Given the description of an element on the screen output the (x, y) to click on. 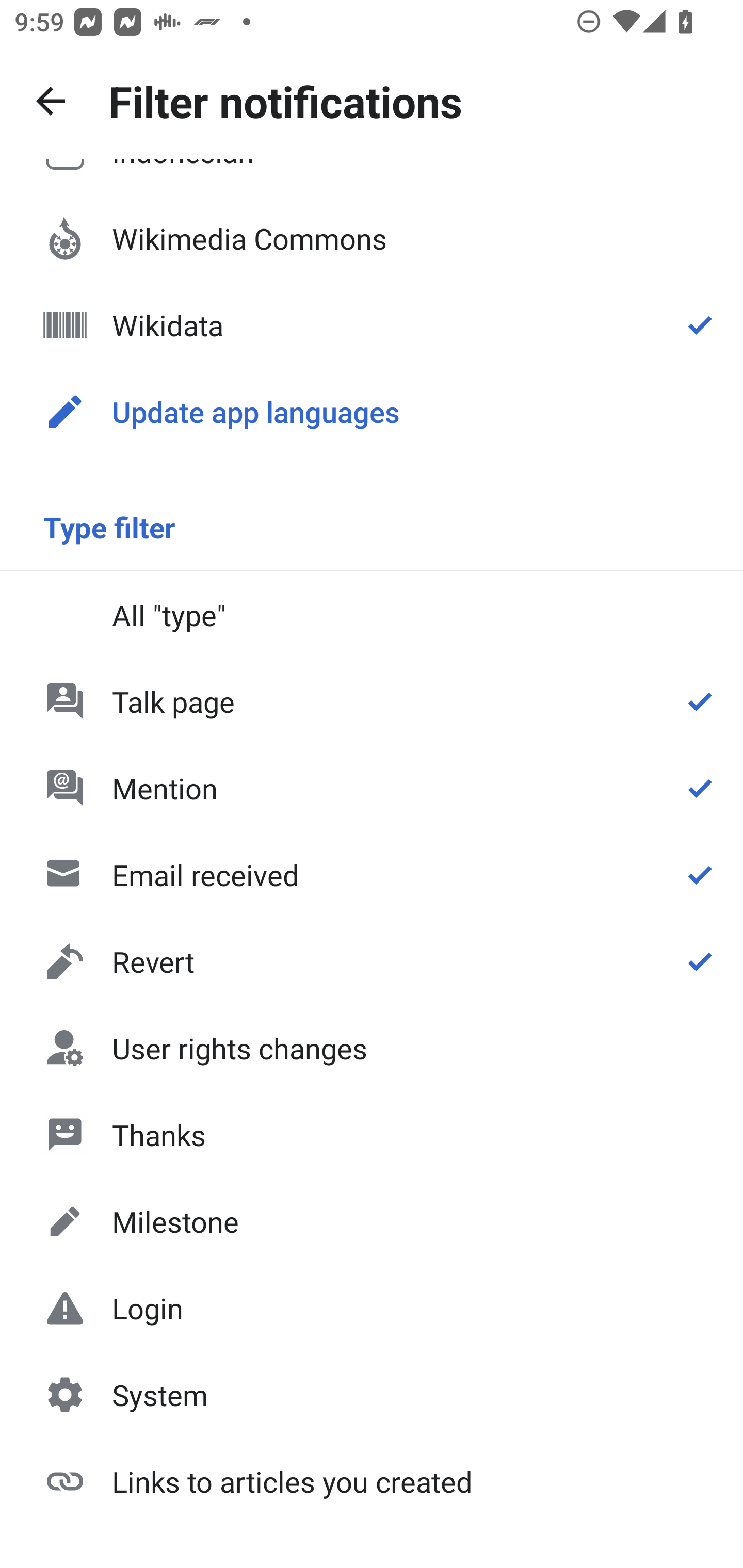
Navigate up (50, 101)
Wikimedia Commons (371, 238)
Wikidata (371, 325)
Update app languages (371, 411)
All "type" (371, 614)
Talk page (371, 701)
Mention (371, 787)
Email received (371, 874)
Revert (371, 961)
User rights changes (371, 1048)
Thanks (371, 1134)
Milestone (371, 1221)
Login (371, 1308)
System (371, 1394)
Links to articles you created (371, 1480)
